Given the description of an element on the screen output the (x, y) to click on. 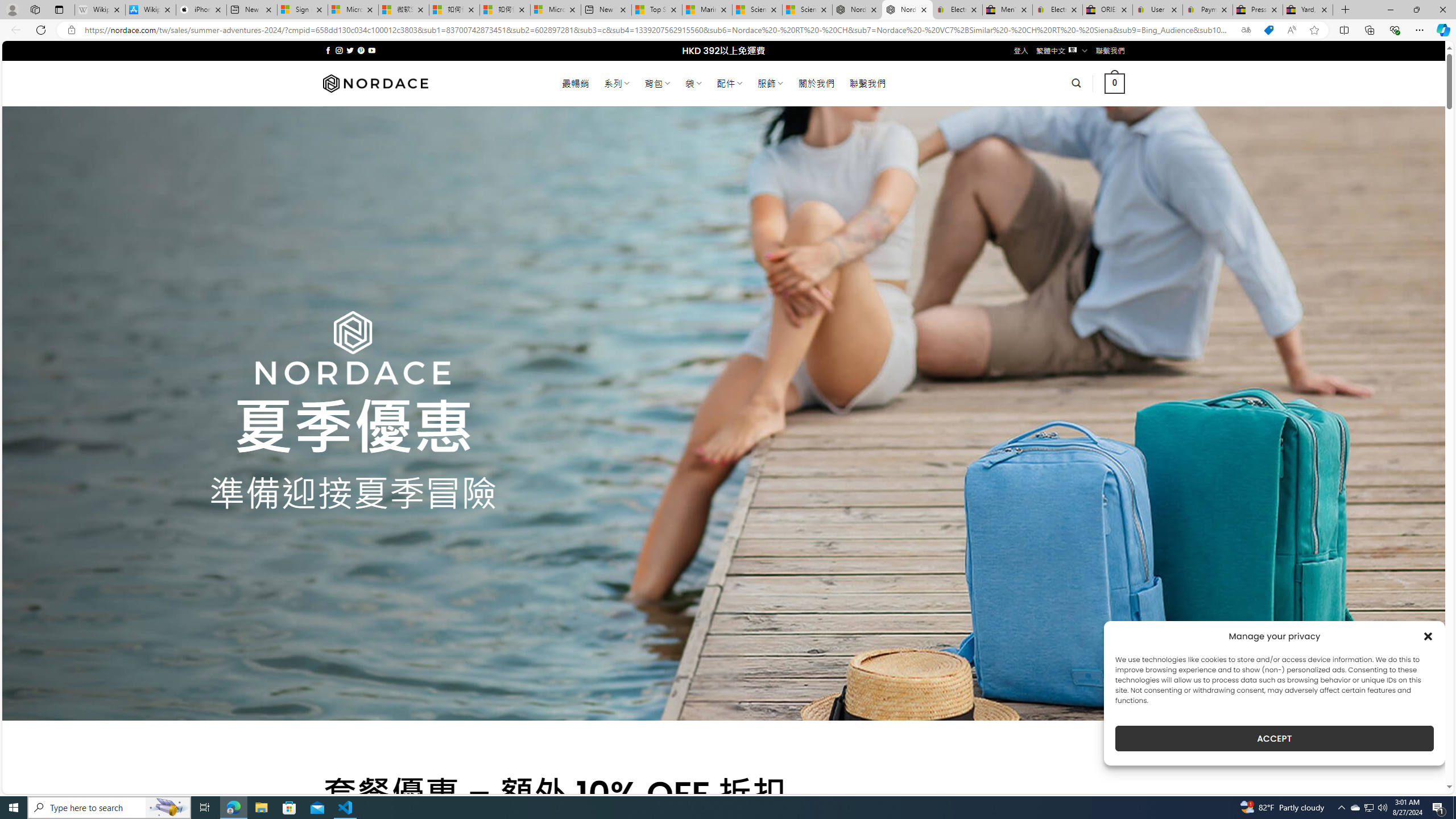
 0  (1115, 83)
Follow on Facebook (327, 50)
Follow on Pinterest (360, 50)
